Given the description of an element on the screen output the (x, y) to click on. 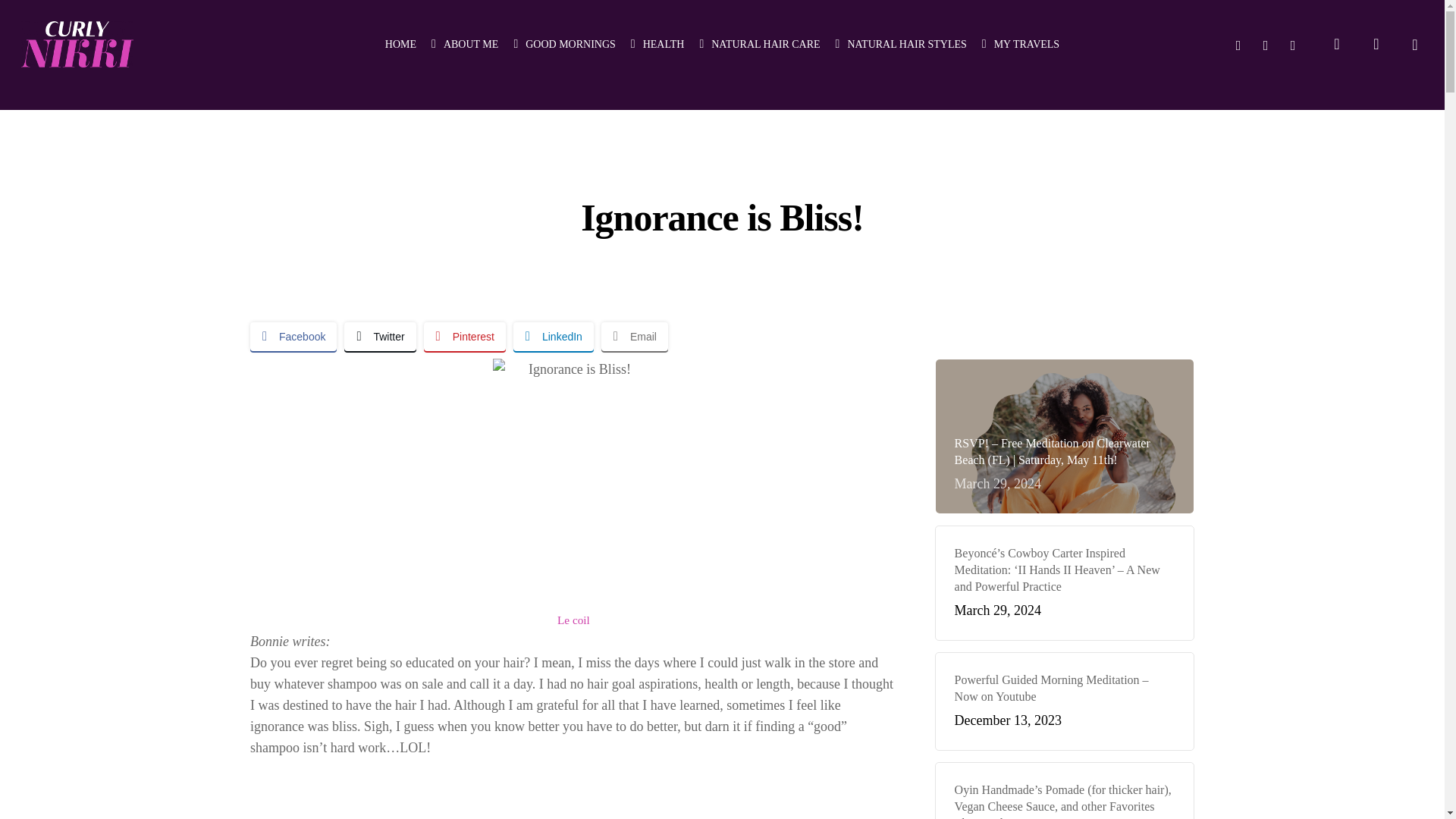
NATURAL HAIR STYLES (900, 44)
HEALTH (657, 44)
NATURAL HAIR CARE (758, 44)
HOME (400, 44)
GOOD MORNINGS (563, 44)
ABOUT ME (463, 44)
